Given the description of an element on the screen output the (x, y) to click on. 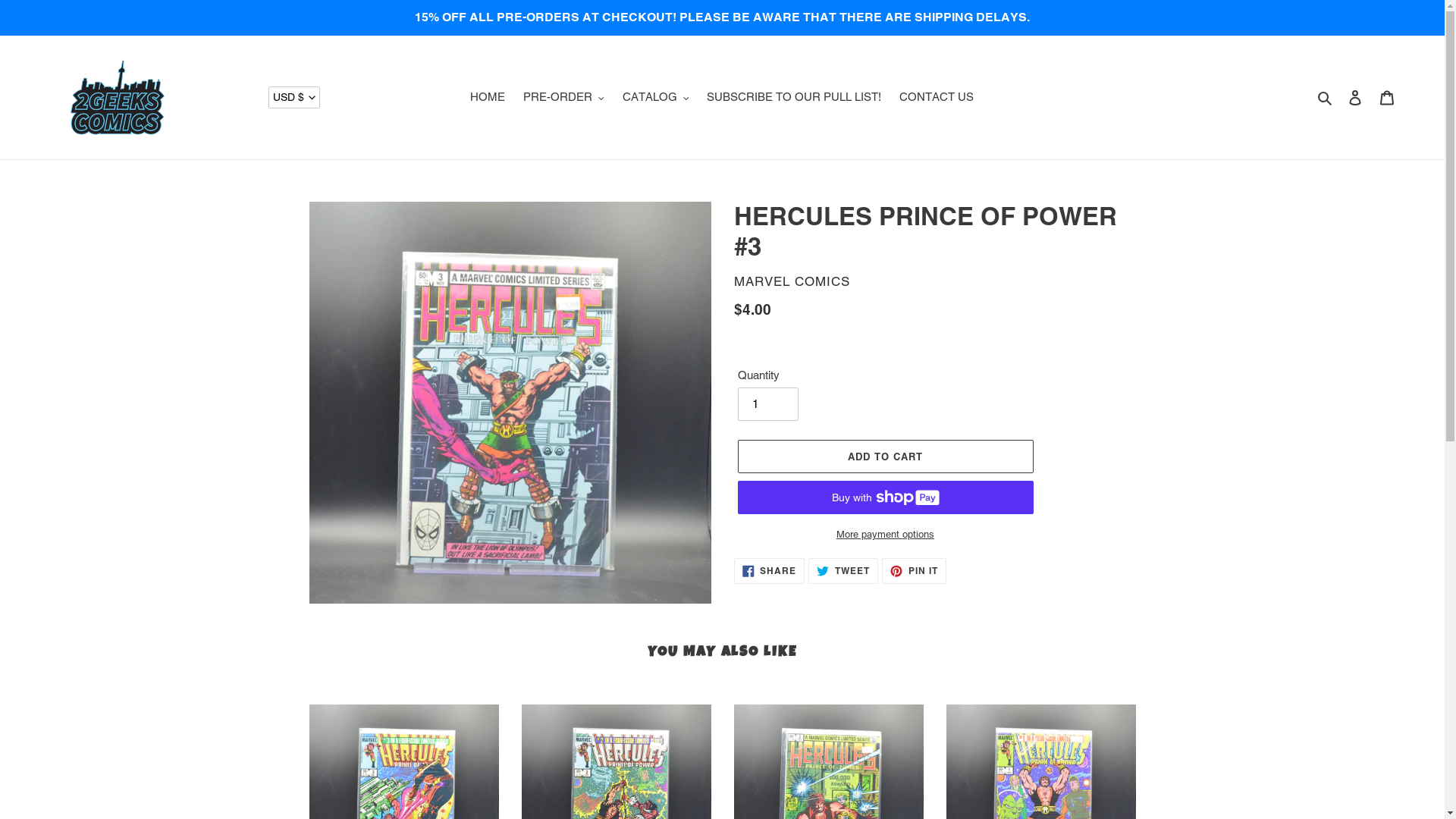
CATALOG Element type: text (655, 97)
SUBSCRIBE TO OUR PULL LIST! Element type: text (793, 97)
PIN IT
PIN ON PINTEREST Element type: text (913, 570)
TWEET
TWEET ON TWITTER Element type: text (843, 570)
Log in Element type: text (1355, 97)
HOME Element type: text (487, 97)
SHARE
SHARE ON FACEBOOK Element type: text (769, 570)
Cart Element type: text (1386, 97)
CONTACT US Element type: text (936, 97)
ADD TO CART Element type: text (884, 456)
More payment options Element type: text (884, 534)
USD $ Element type: text (294, 97)
Search Element type: text (1325, 96)
PRE-ORDER Element type: text (563, 97)
